Given the description of an element on the screen output the (x, y) to click on. 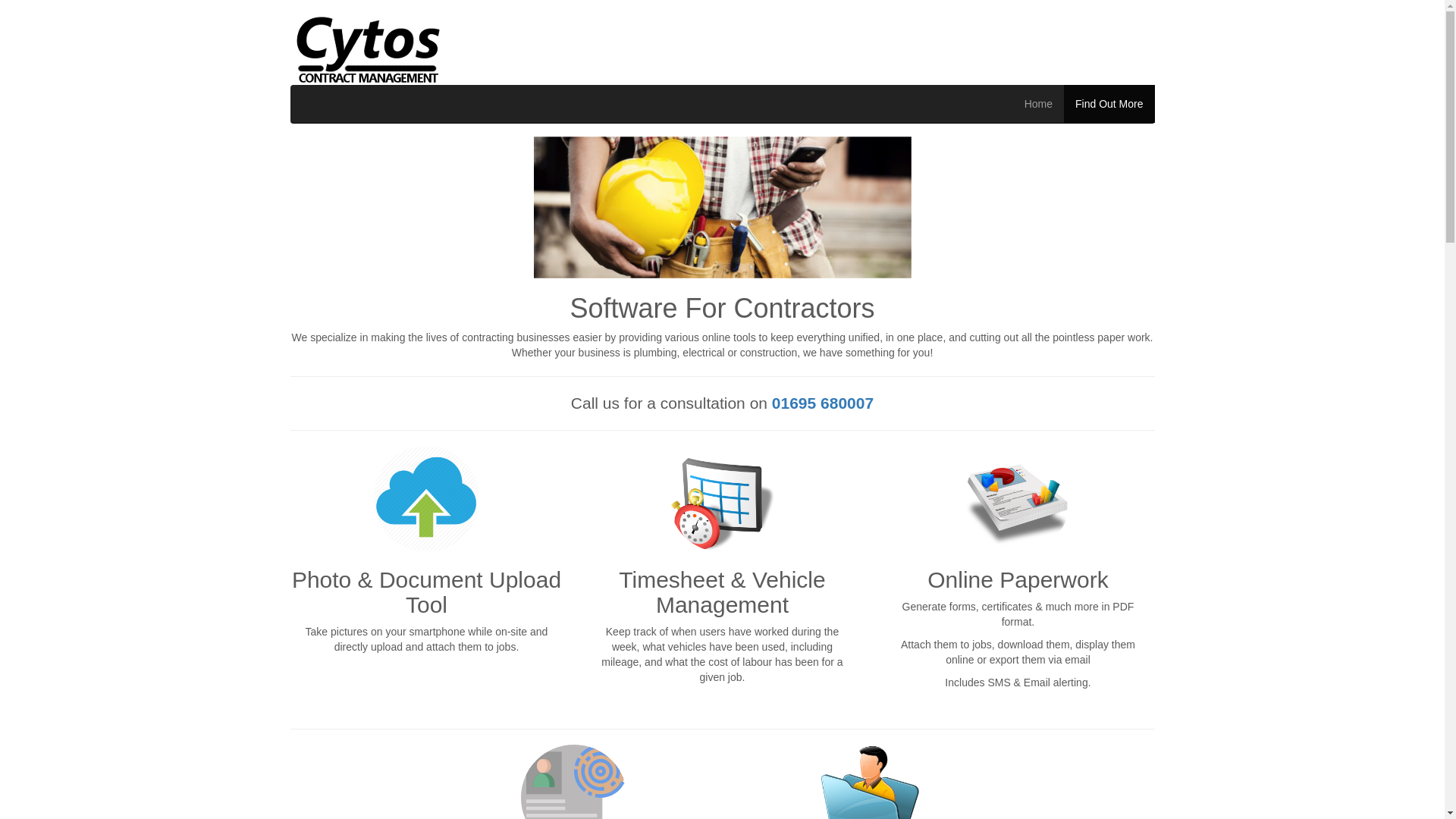
Home (1038, 103)
Find Out More (1109, 103)
